Given the description of an element on the screen output the (x, y) to click on. 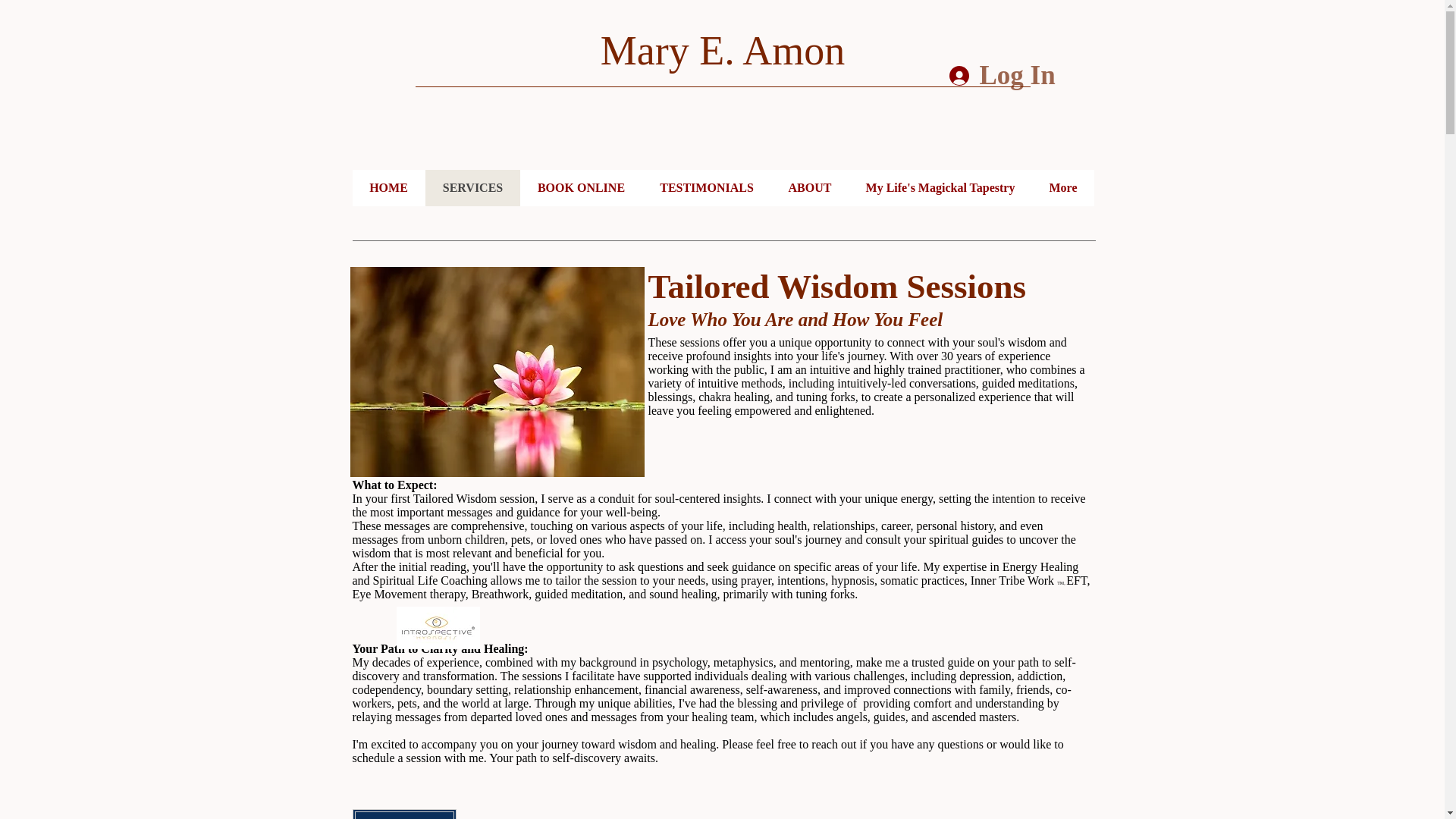
TESTIMONIALS (706, 187)
My Life's Magickal Tapestry (938, 187)
SERVICES (472, 187)
ABOUT (808, 187)
HOME (388, 187)
BOOK ONLINE (580, 187)
Open Magenta and Gold Lotus with Golden Background  (497, 371)
Book Now (403, 814)
Mary E. Amon (721, 50)
